Given the description of an element on the screen output the (x, y) to click on. 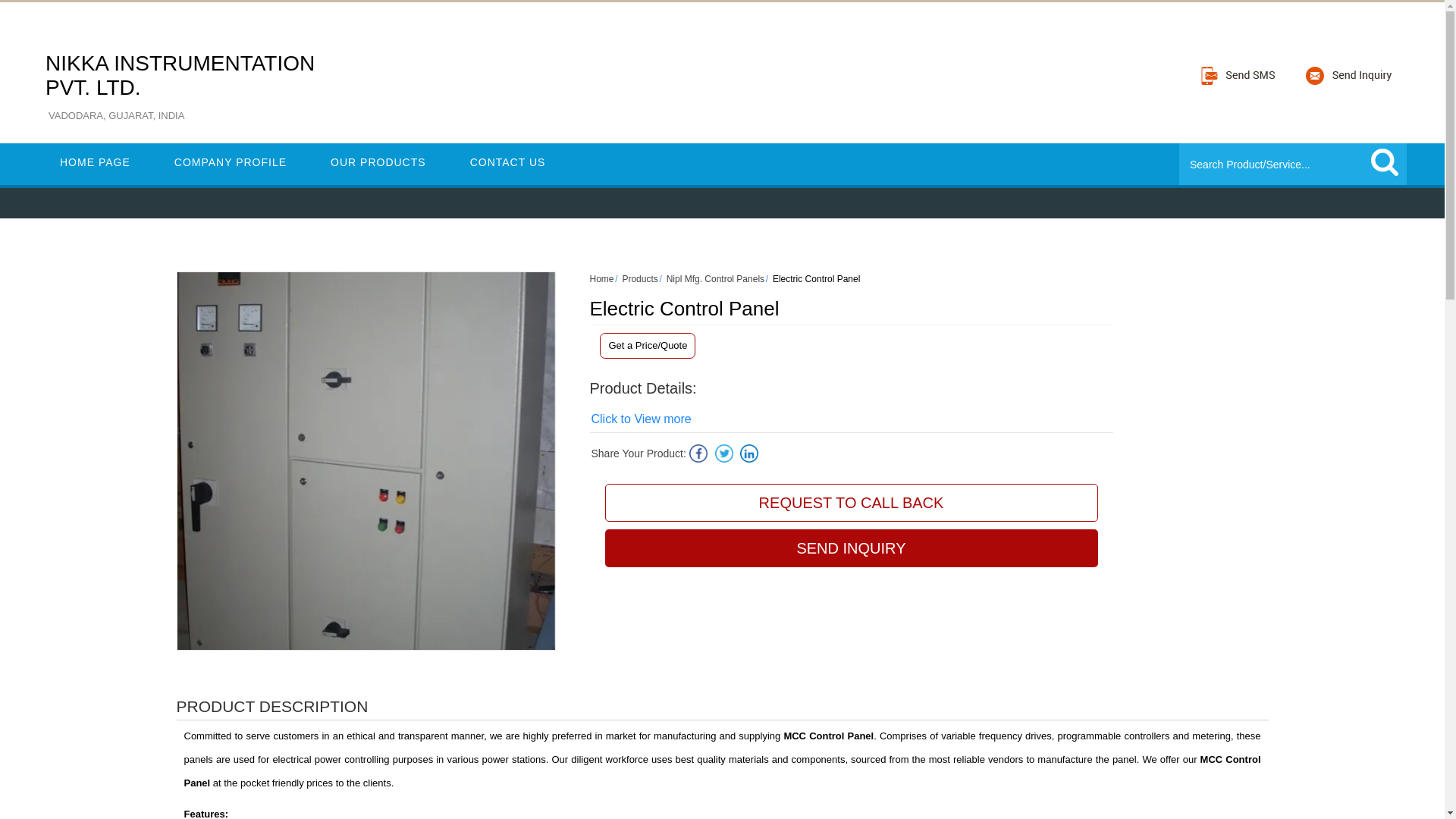
Home (601, 278)
Products (639, 278)
Nipl Mfg. Control Panels (715, 278)
Click to View more (641, 418)
CONTACT US (507, 161)
SEND INQUIRY (851, 548)
submit (1384, 162)
HOME PAGE (94, 161)
submit (1384, 162)
